Given the description of an element on the screen output the (x, y) to click on. 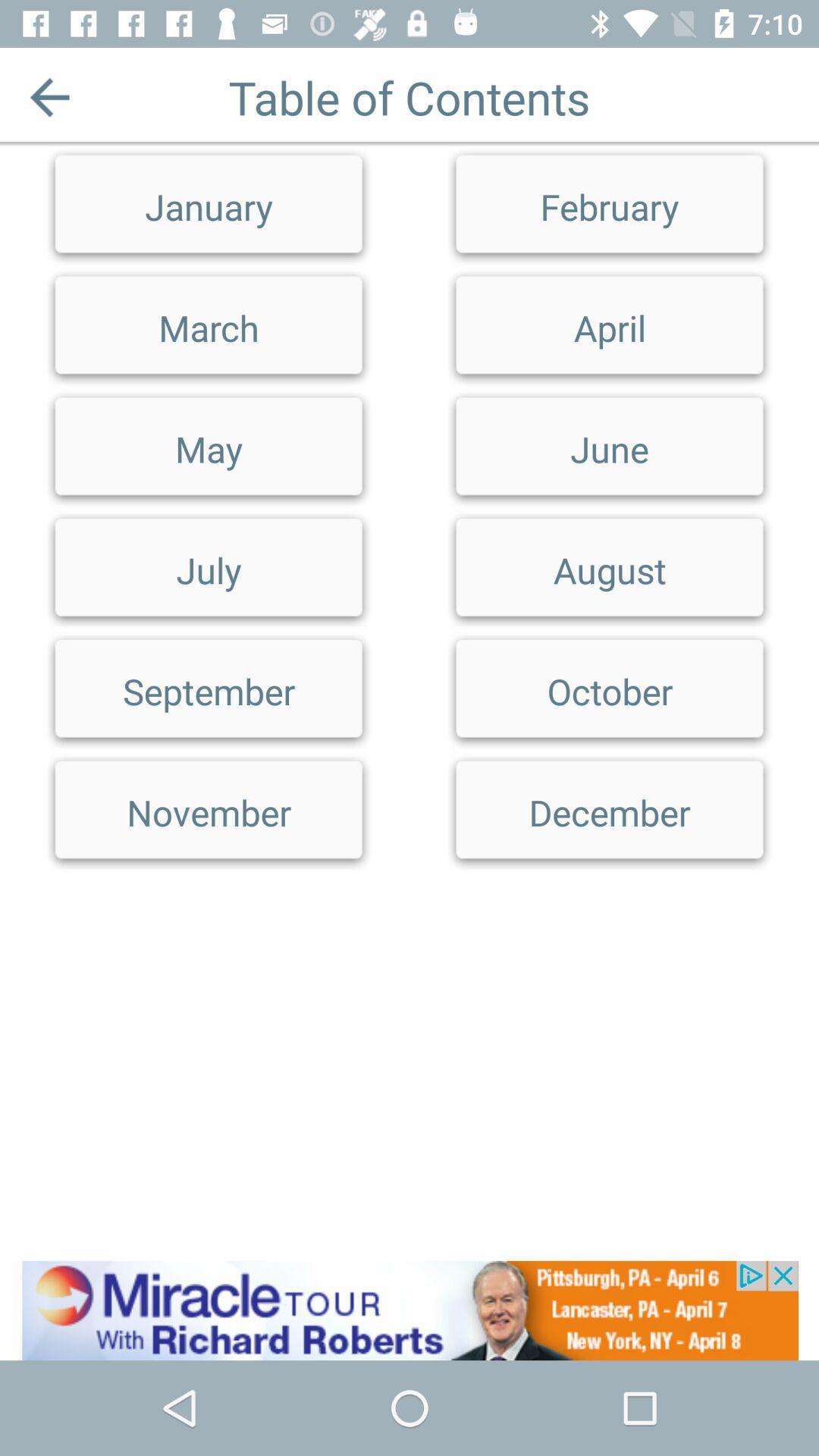
go to an advertisement (409, 1310)
